Given the description of an element on the screen output the (x, y) to click on. 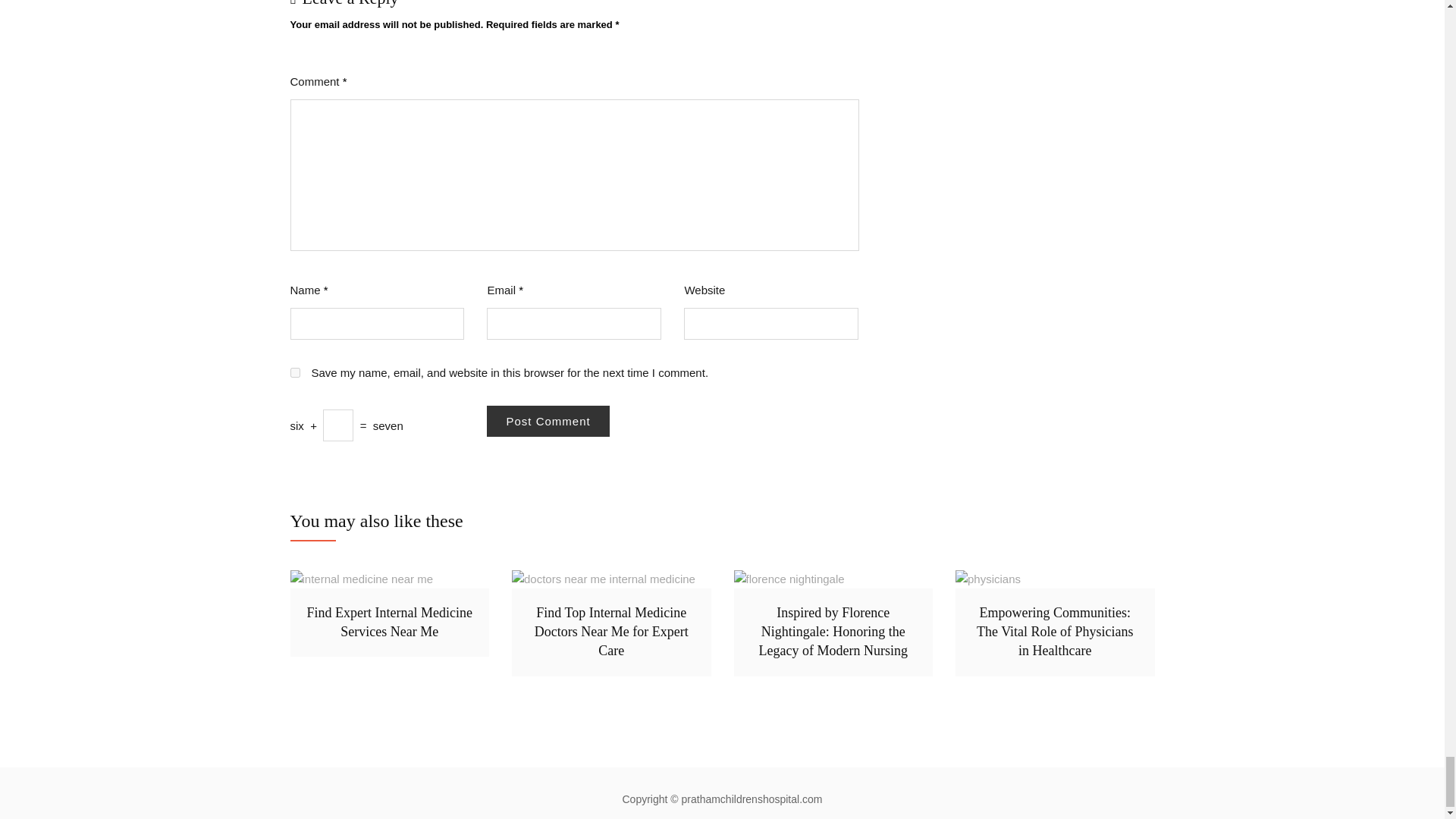
yes (294, 372)
Post Comment (547, 420)
